Given the description of an element on the screen output the (x, y) to click on. 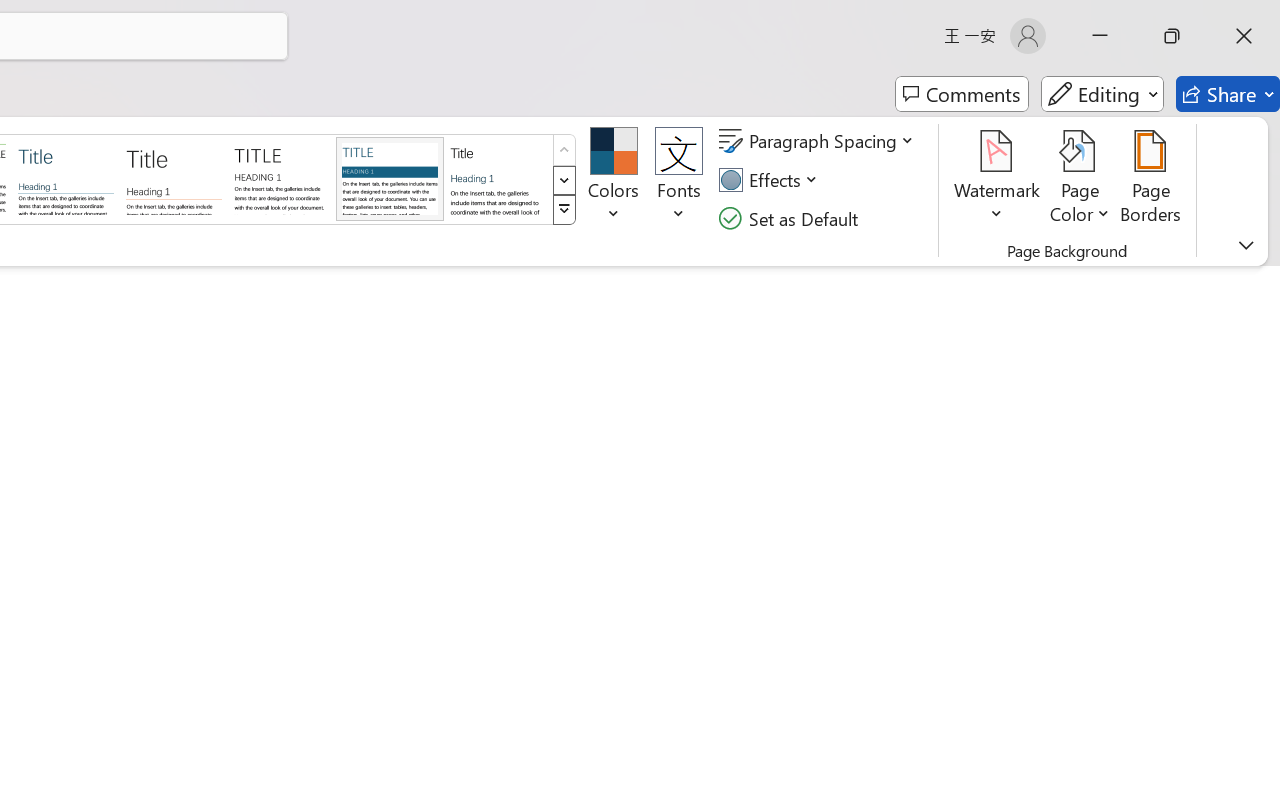
Colors (613, 179)
Effects (771, 179)
Share (1228, 94)
Style Set (564, 209)
Page Color (1080, 179)
Fonts (678, 179)
Word (497, 178)
Paragraph Spacing (819, 141)
Class: NetUIImage (564, 210)
Shaded (389, 178)
Set as Default (791, 218)
Lines (Simple) (65, 178)
Row Down (564, 180)
Page Borders... (1151, 179)
